Given the description of an element on the screen output the (x, y) to click on. 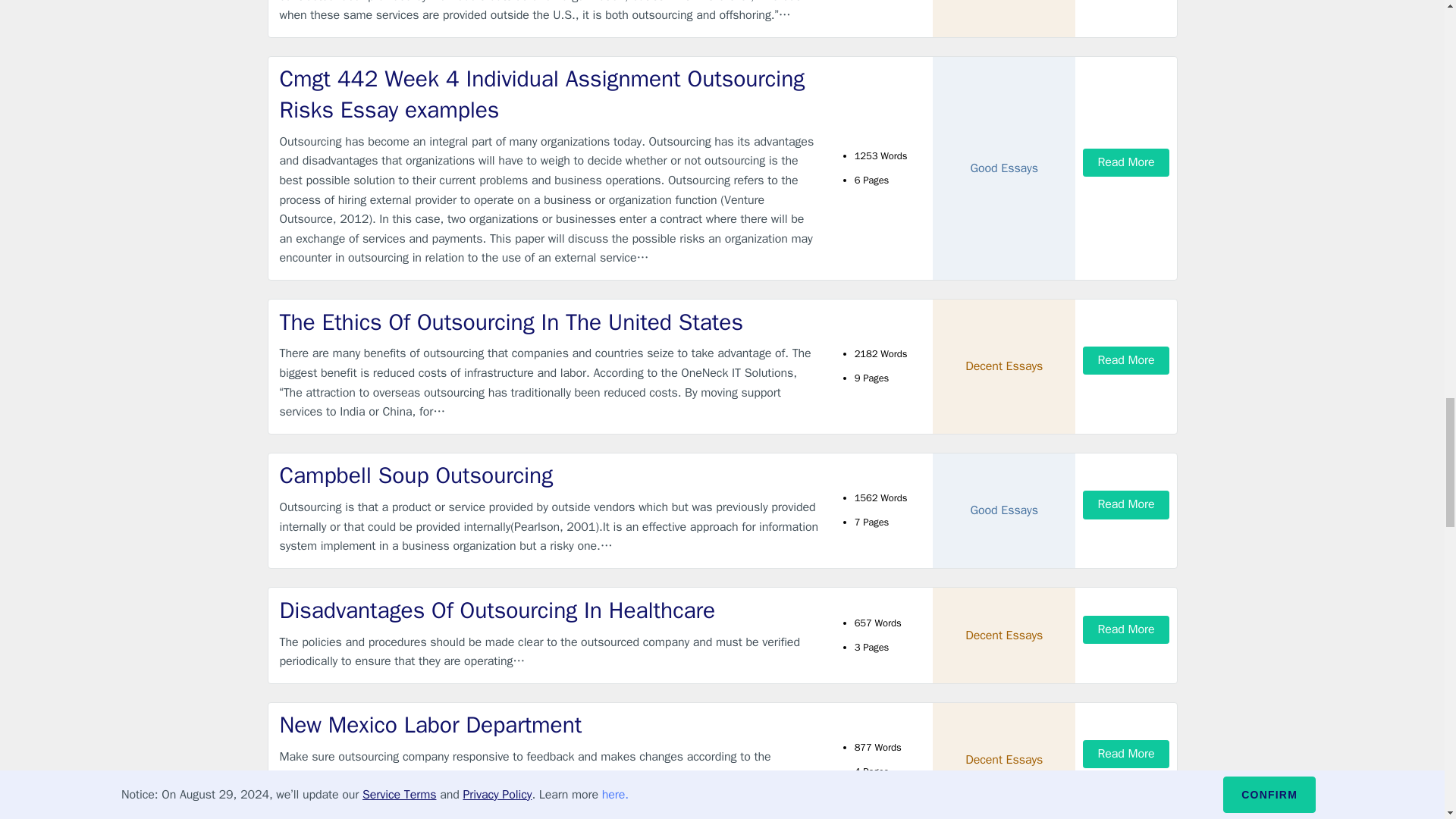
The Ethics Of Outsourcing In The United States (548, 322)
Read More (1126, 162)
Read More (1126, 360)
Campbell Soup Outsourcing (548, 475)
Read More (1126, 504)
